Given the description of an element on the screen output the (x, y) to click on. 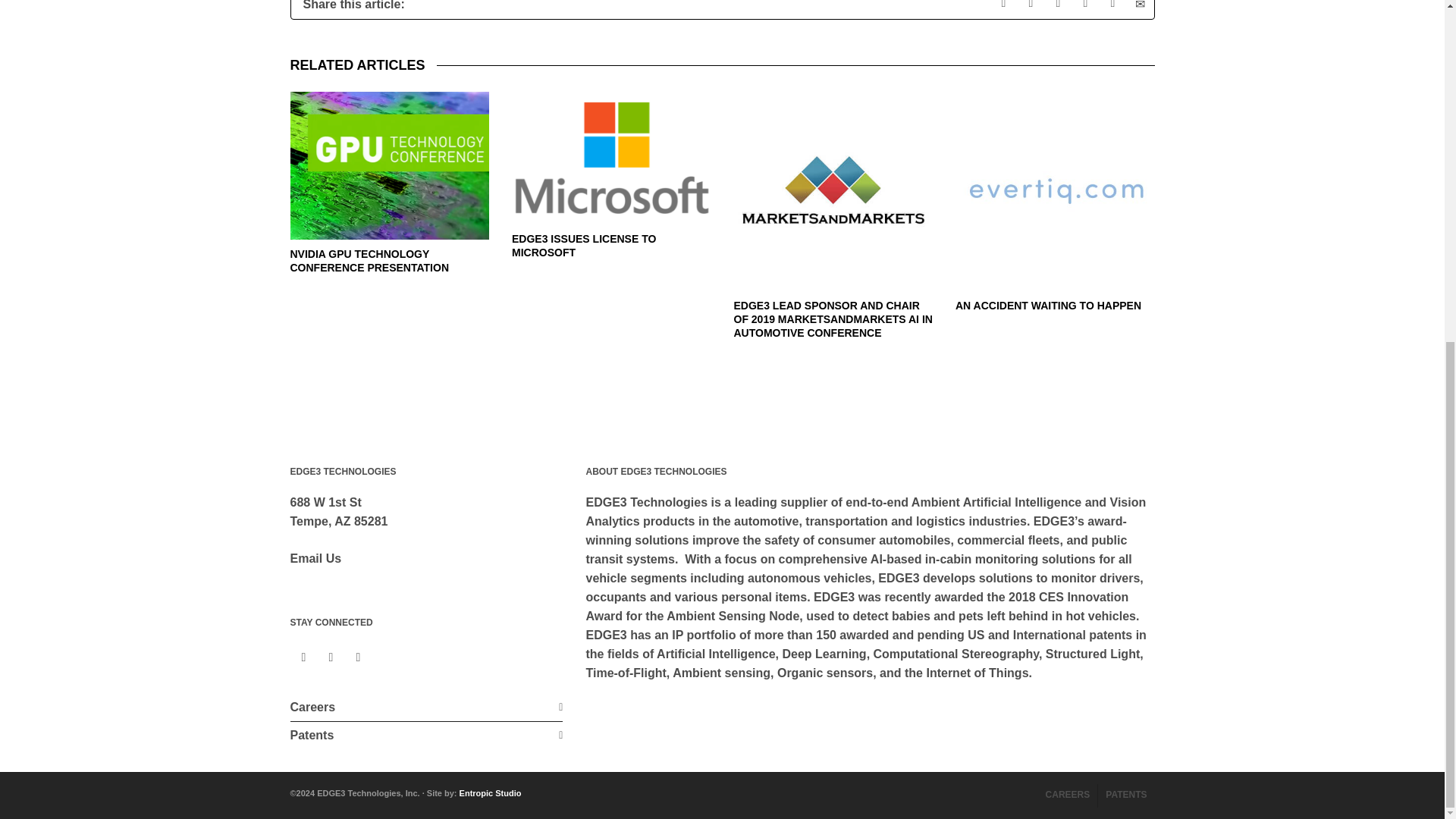
NVIDIA GPU TECHNOLOGY CONFERENCE PRESENTATION (368, 260)
Permanent Link to EDGE3 Issues License to Microsoft (584, 245)
Permanent Link to An Accident Waiting To Happen (1048, 304)
